Given the description of an element on the screen output the (x, y) to click on. 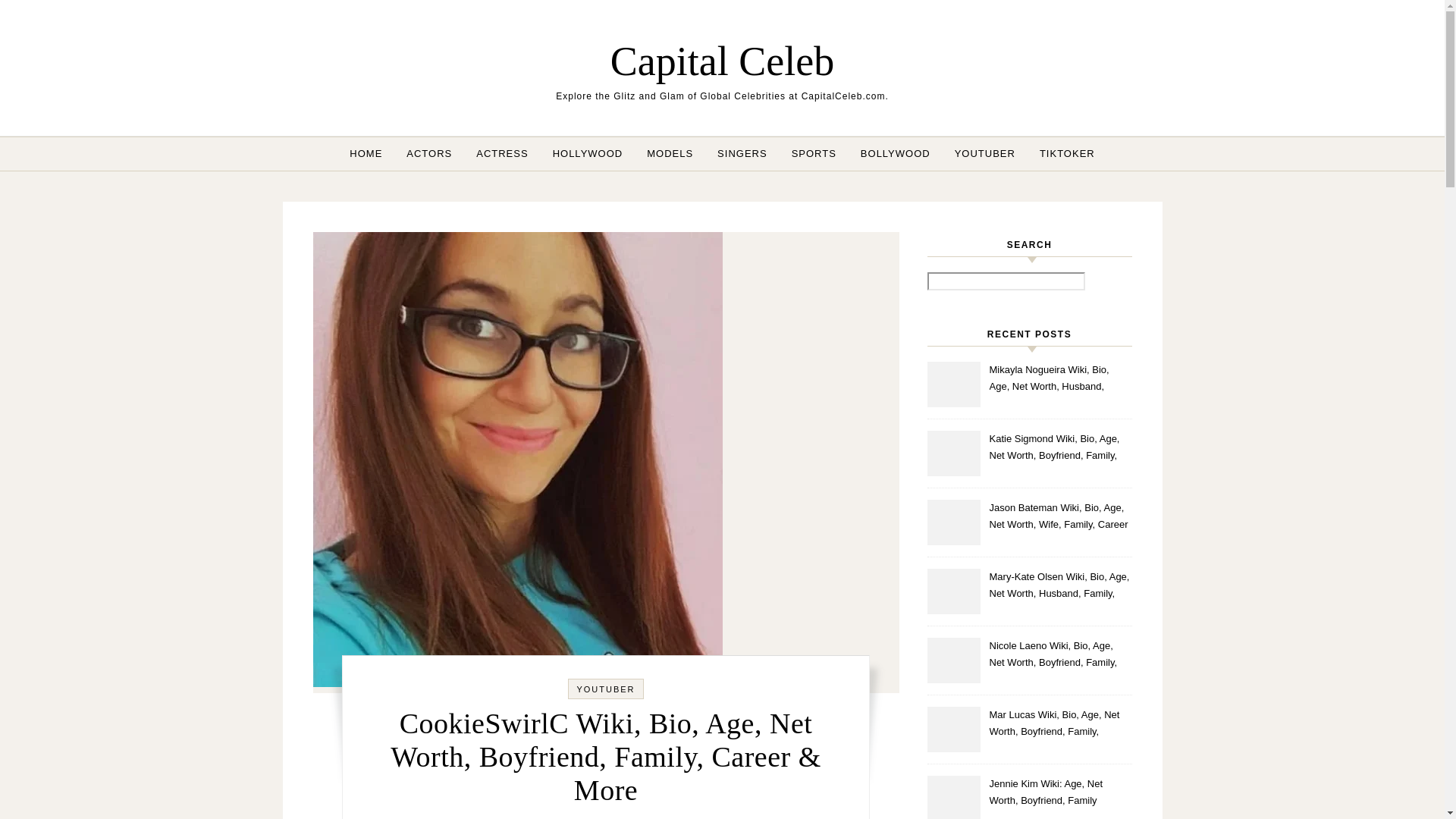
TIKTOKER (1060, 153)
BOLLYWOOD (895, 153)
Capital Celeb (722, 61)
YOUTUBER (984, 153)
ACTORS (429, 153)
SINGERS (741, 153)
MODELS (669, 153)
HOLLYWOOD (587, 153)
SPORTS (813, 153)
HOME (371, 153)
